Given the description of an element on the screen output the (x, y) to click on. 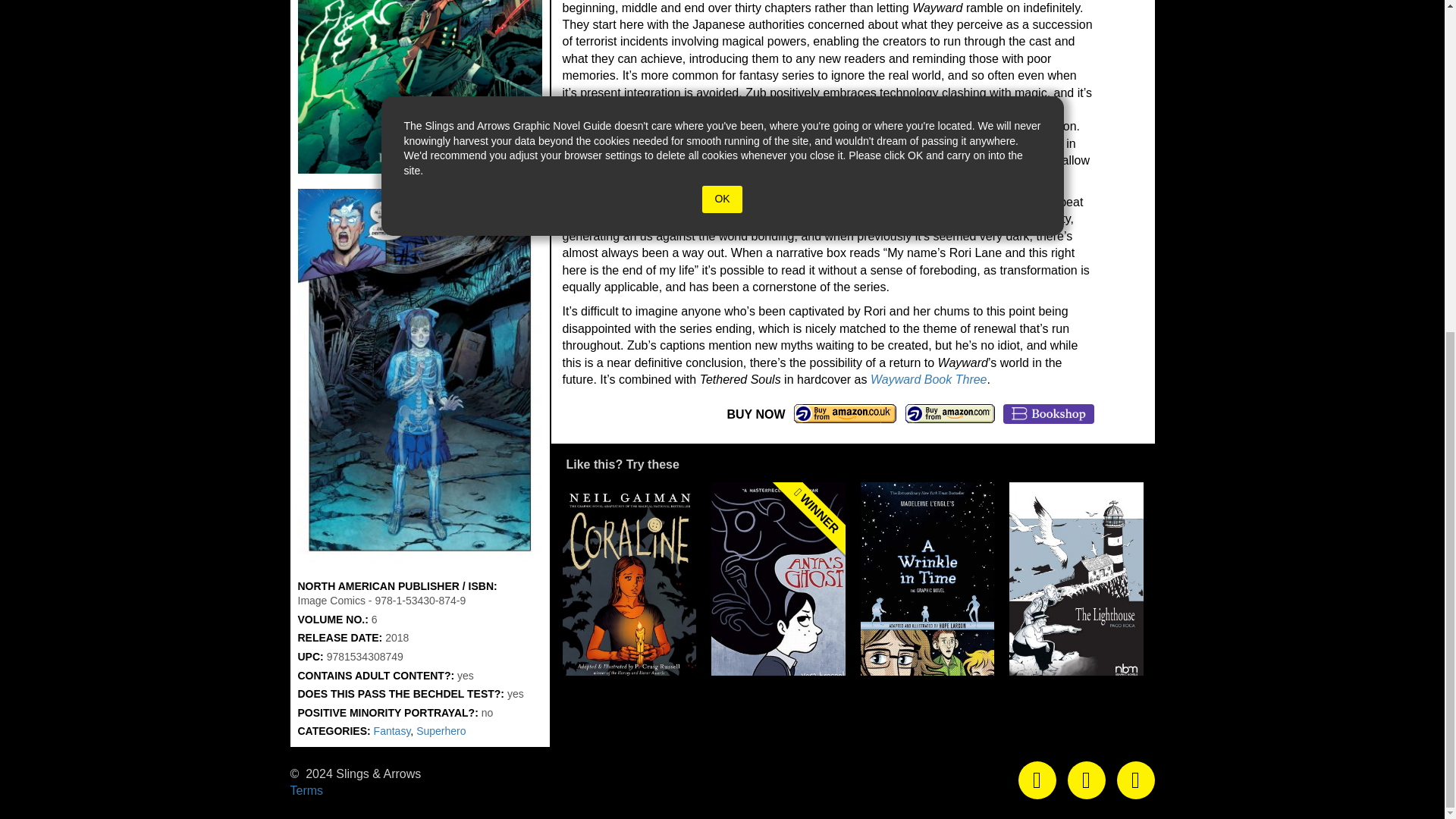
Wayward Book Three (928, 379)
Superhero (440, 730)
Fantasy (392, 730)
OK (721, 198)
